Given the description of an element on the screen output the (x, y) to click on. 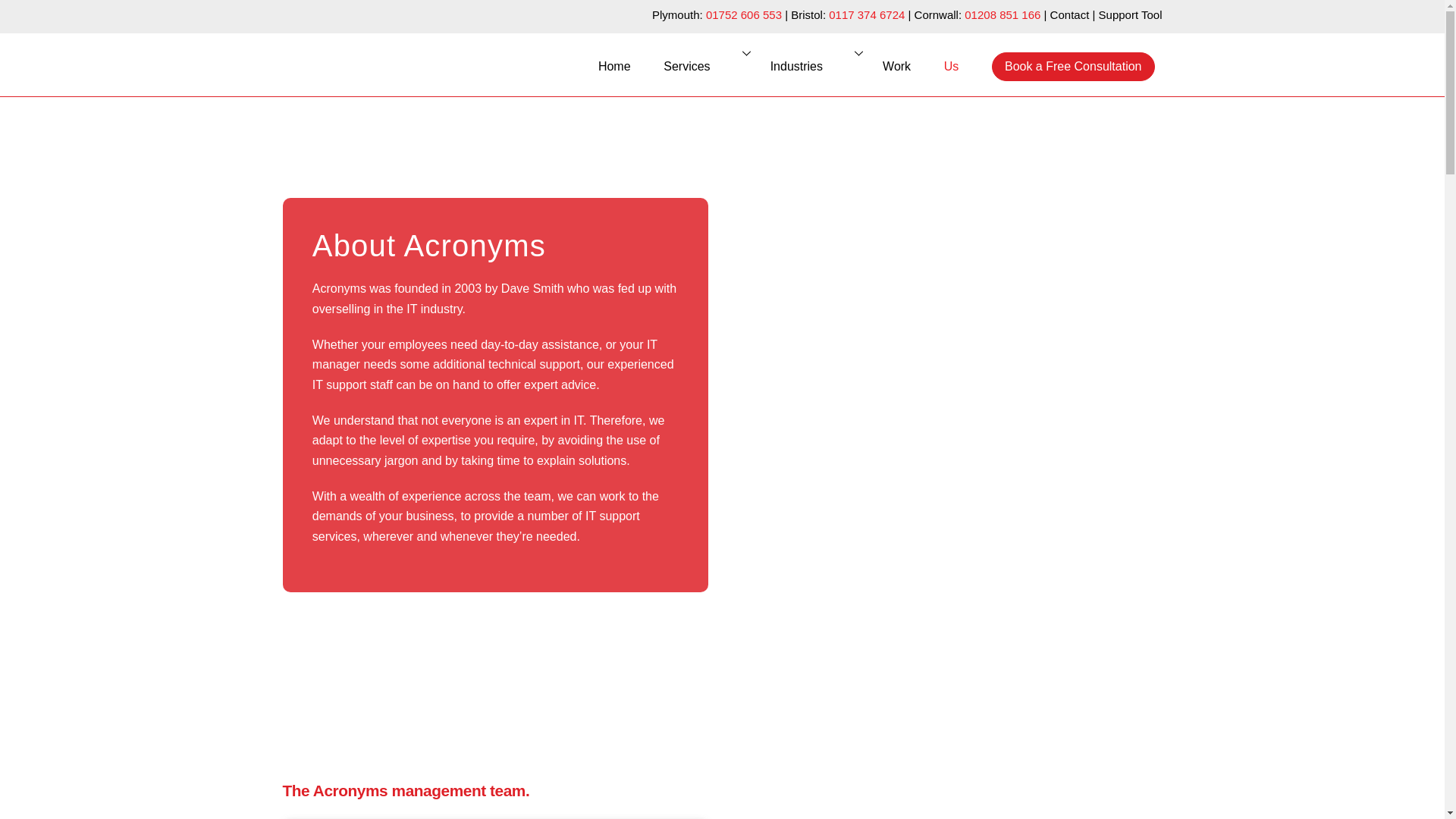
01208 851 166 (1002, 14)
Services (782, 64)
0117 374 6724 (700, 66)
01752 606 553 (866, 14)
Contact (743, 14)
Book a Free Consultation (1069, 14)
Home (1072, 66)
Industries (614, 66)
Work (809, 66)
Support Tool (896, 66)
